Given the description of an element on the screen output the (x, y) to click on. 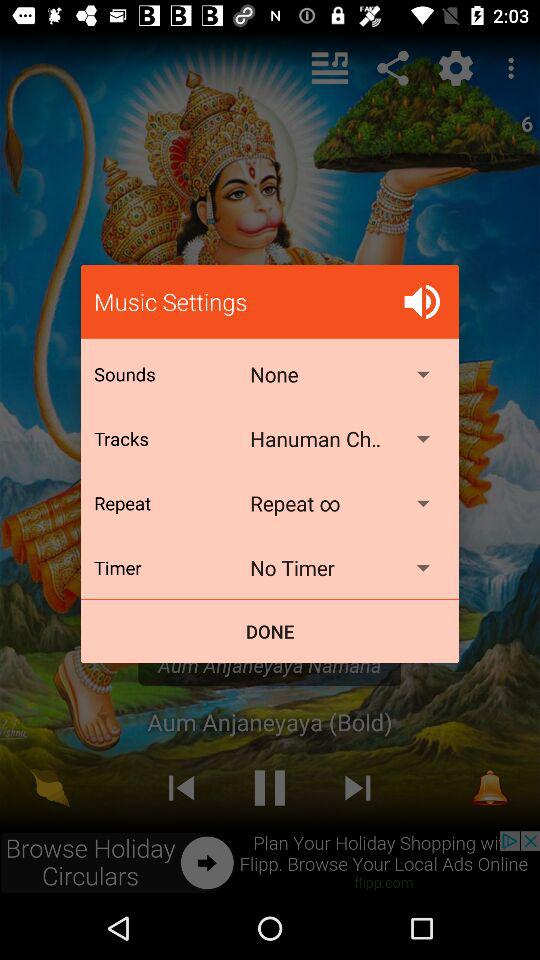
swipe until done icon (270, 631)
